Given the description of an element on the screen output the (x, y) to click on. 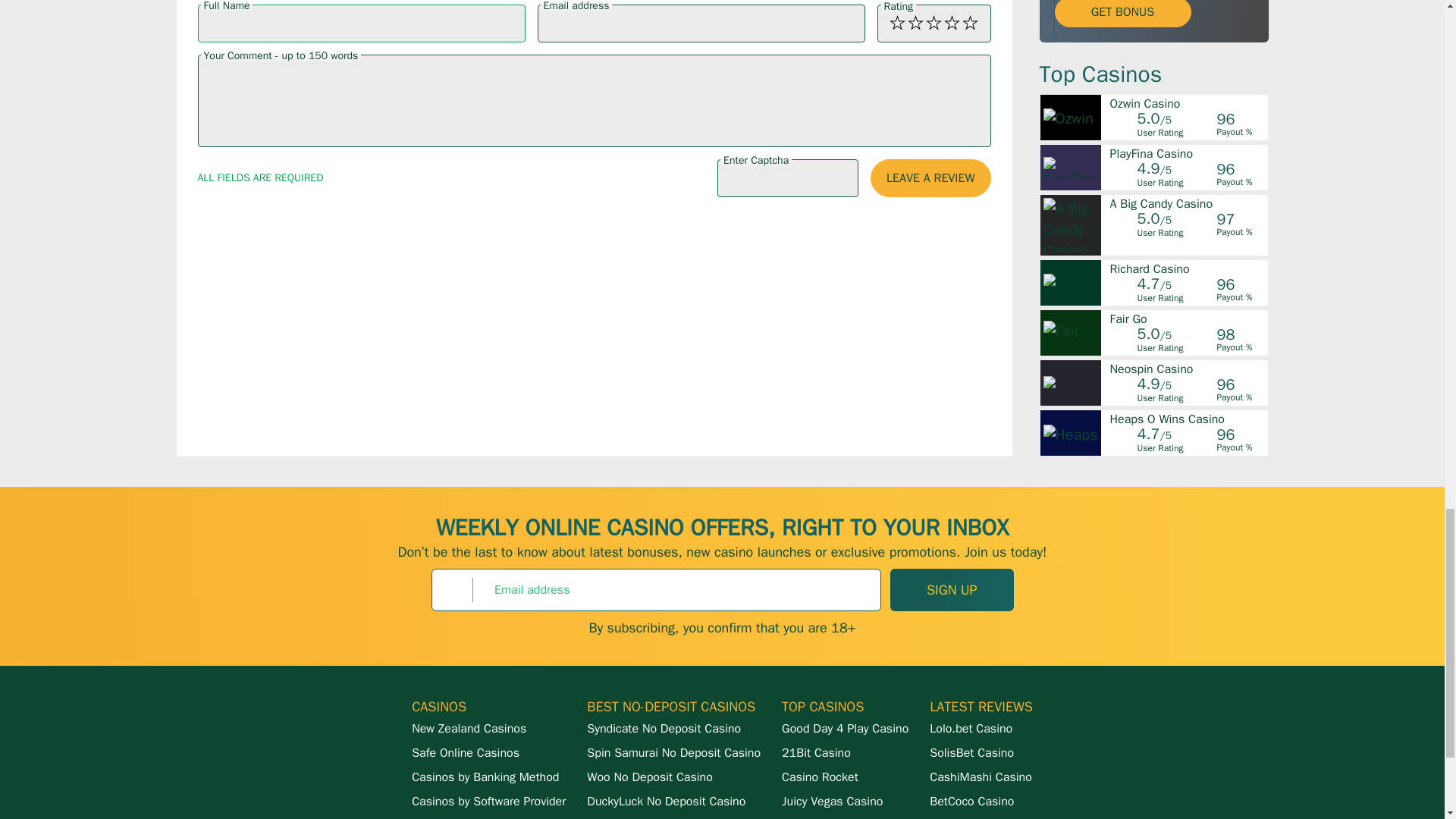
Richard Casino (1187, 268)
Ozwin Casino (1187, 103)
Fair Go (1187, 318)
Heaps O Wins Casino (1187, 419)
PlayFina Casino (1187, 153)
Neospin Casino (1187, 369)
A Big Candy Casino (1187, 203)
